Given the description of an element on the screen output the (x, y) to click on. 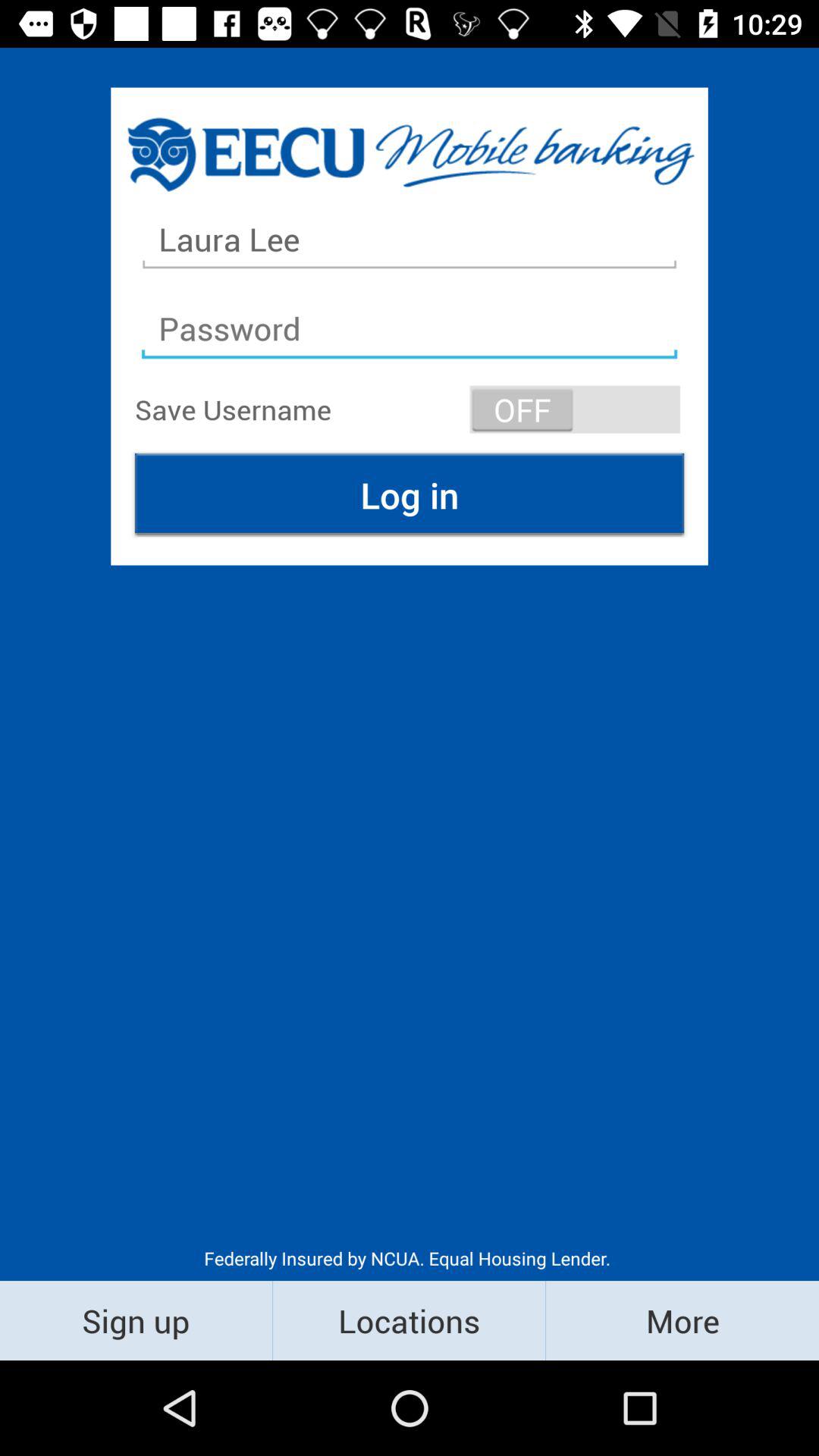
open item at the top right corner (574, 409)
